Given the description of an element on the screen output the (x, y) to click on. 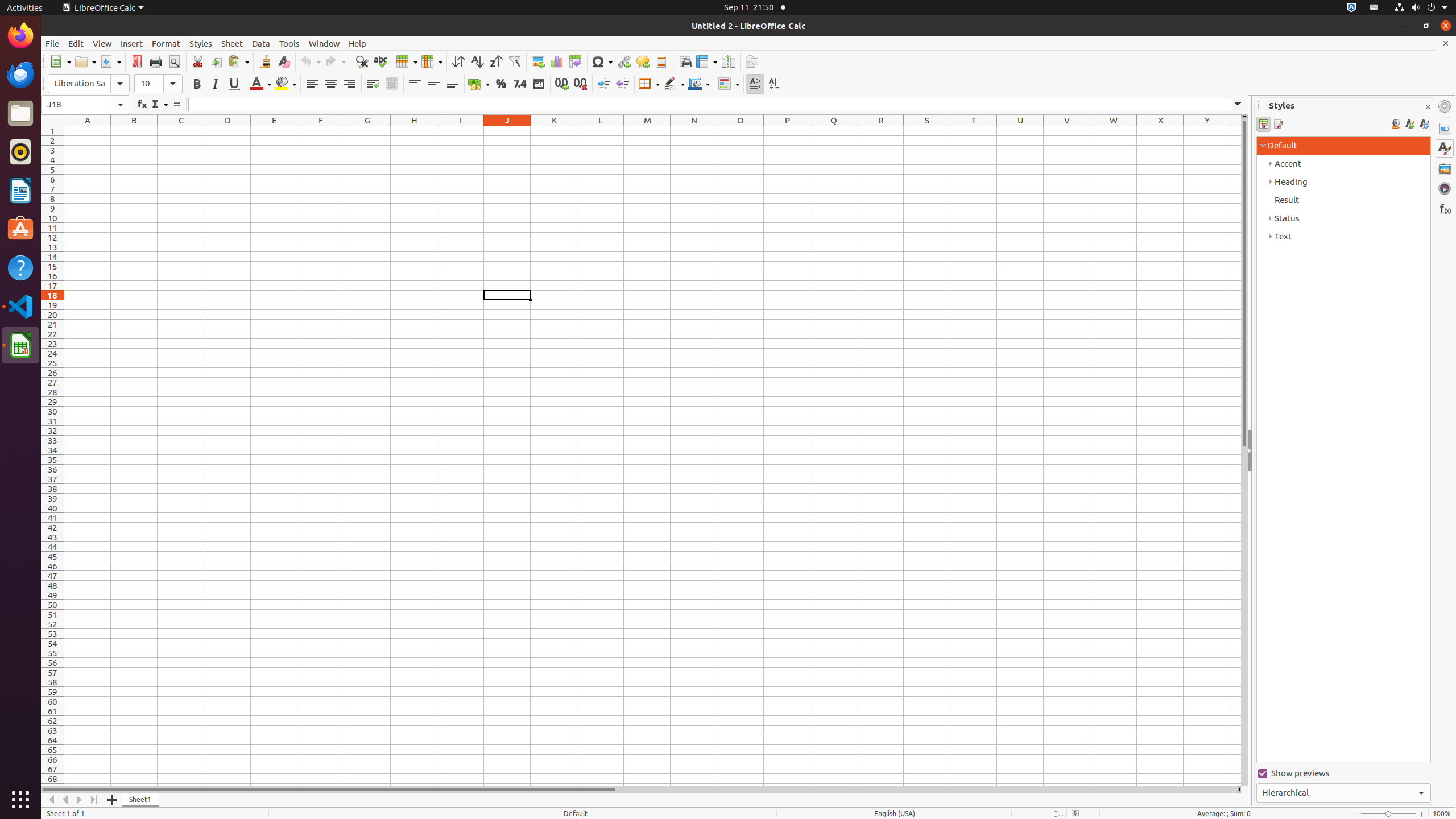
C1 Element type: table-cell (180, 130)
Text direction from top to bottom Element type: toggle-button (773, 83)
Update Style Element type: push-button (1423, 123)
Font Name Element type: combo-box (88, 83)
